Given the description of an element on the screen output the (x, y) to click on. 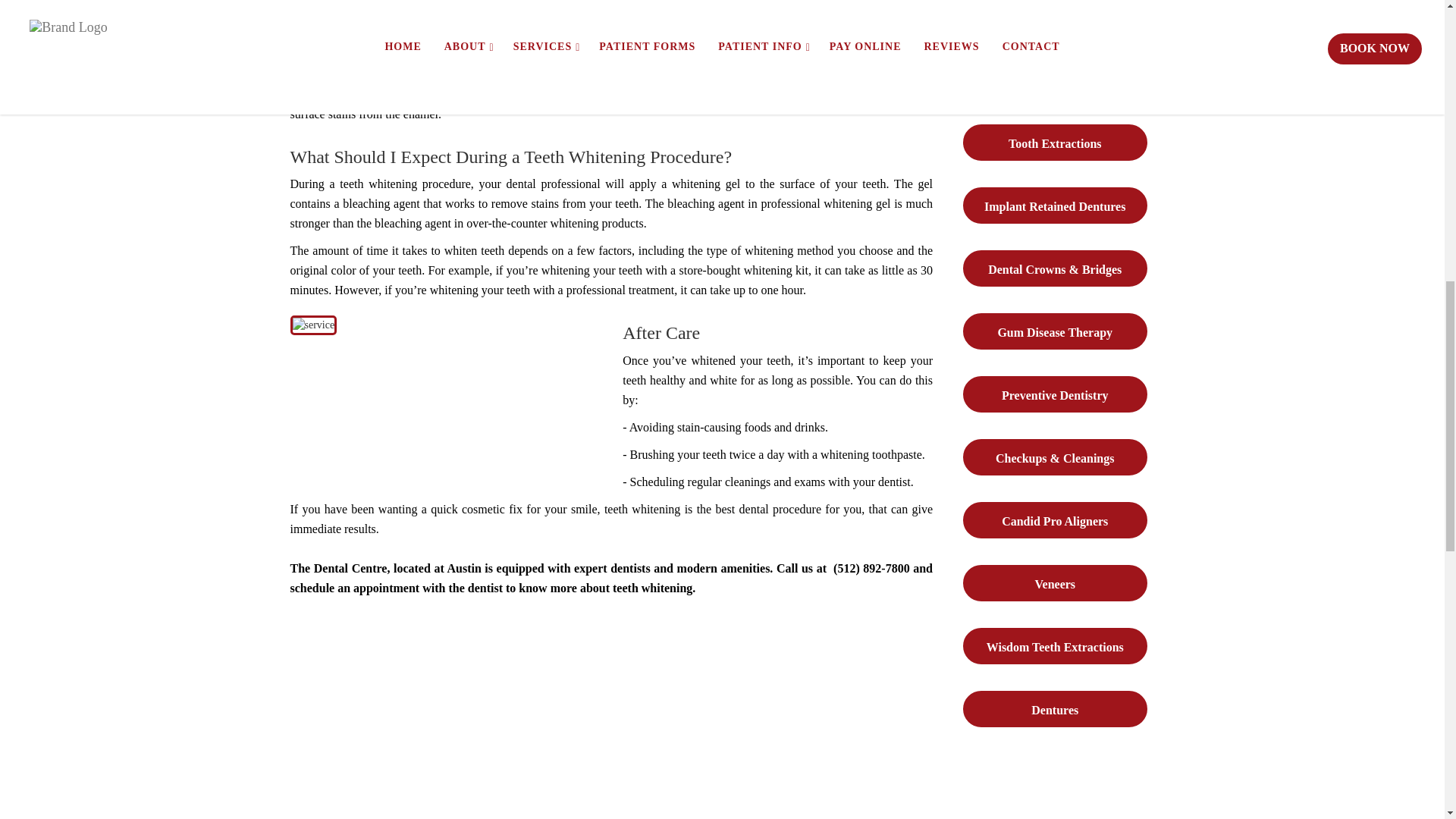
service (312, 324)
